Given the description of an element on the screen output the (x, y) to click on. 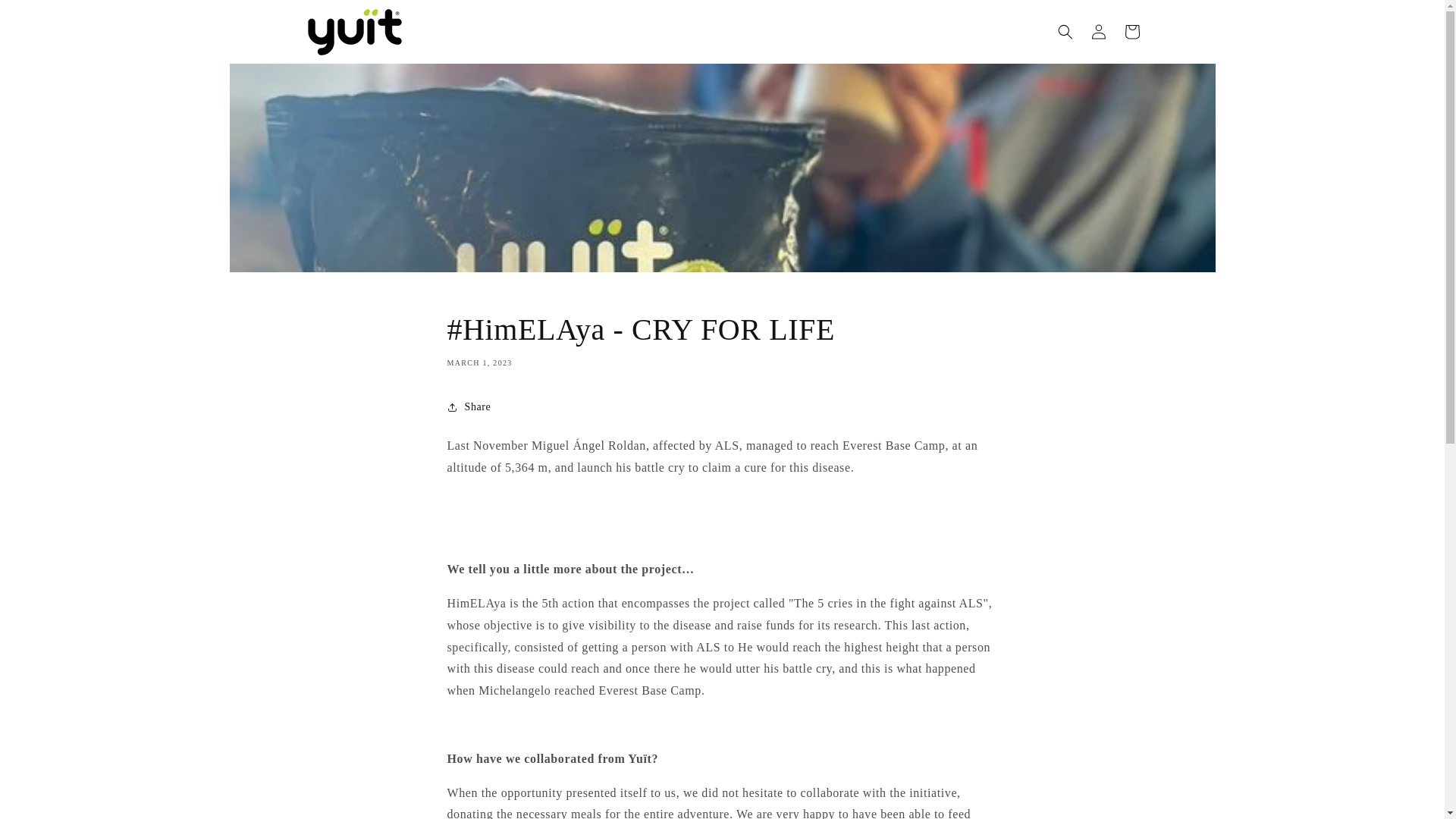
Skip to content (45, 17)
